Given the description of an element on the screen output the (x, y) to click on. 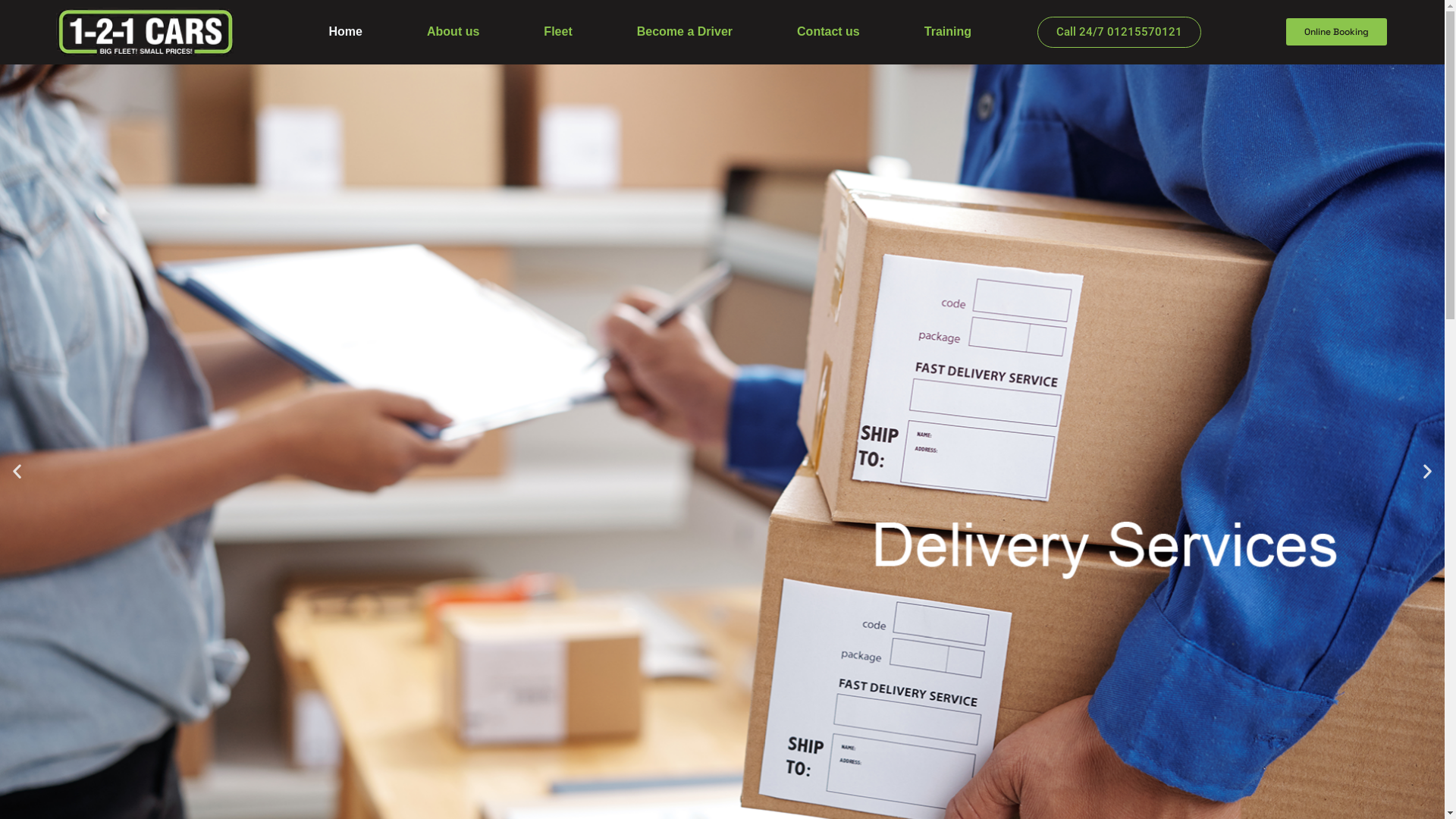
Home Element type: text (345, 31)
Call 24/7 01215570121 Element type: text (1119, 31)
Become a Driver Element type: text (684, 31)
About us Element type: text (452, 31)
Fleet Element type: text (557, 31)
Contact us Element type: text (828, 31)
Online Booking Element type: text (1336, 31)
Training Element type: text (947, 31)
